Given the description of an element on the screen output the (x, y) to click on. 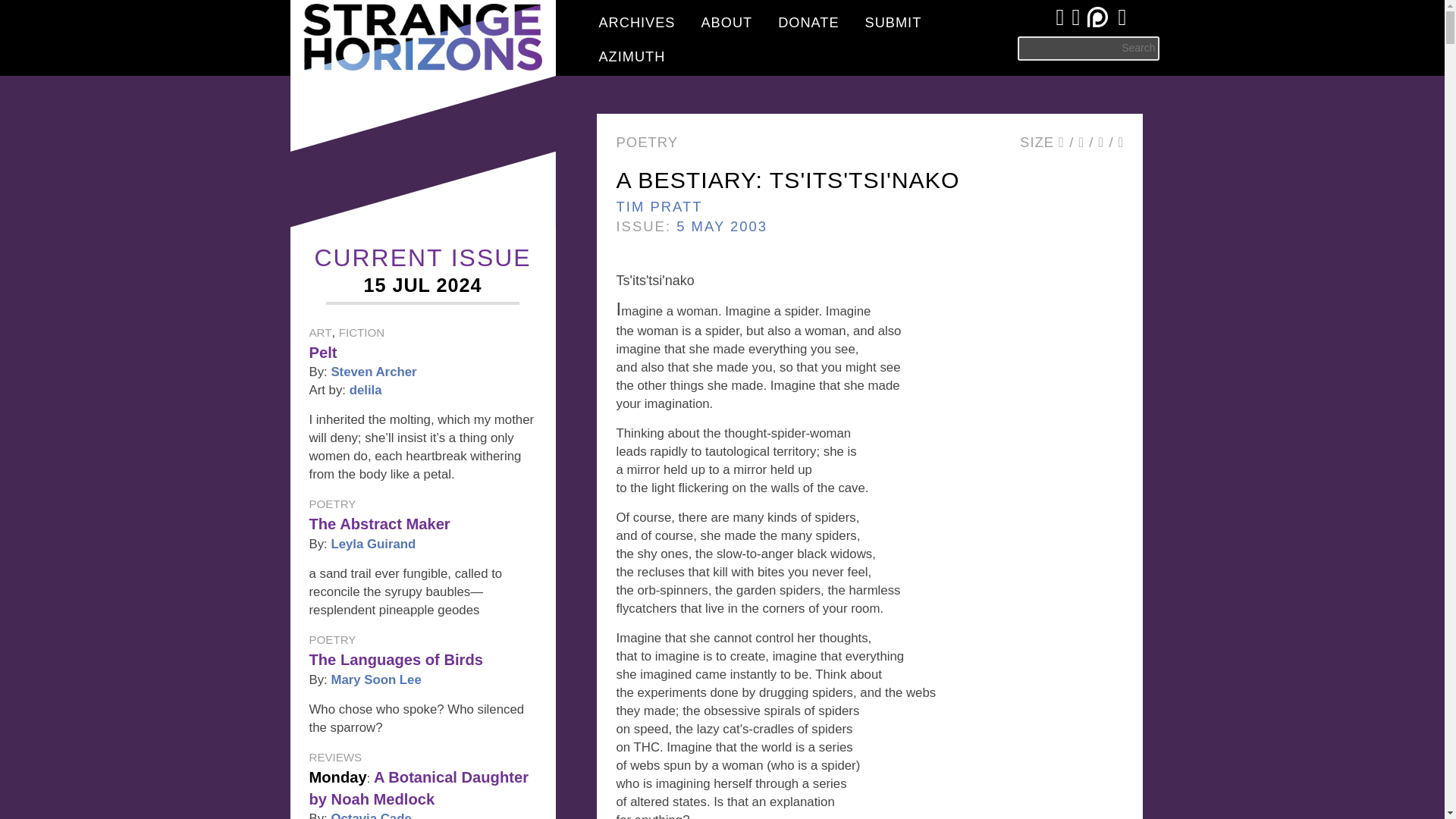
ARCHIVES (636, 20)
